Given the description of an element on the screen output the (x, y) to click on. 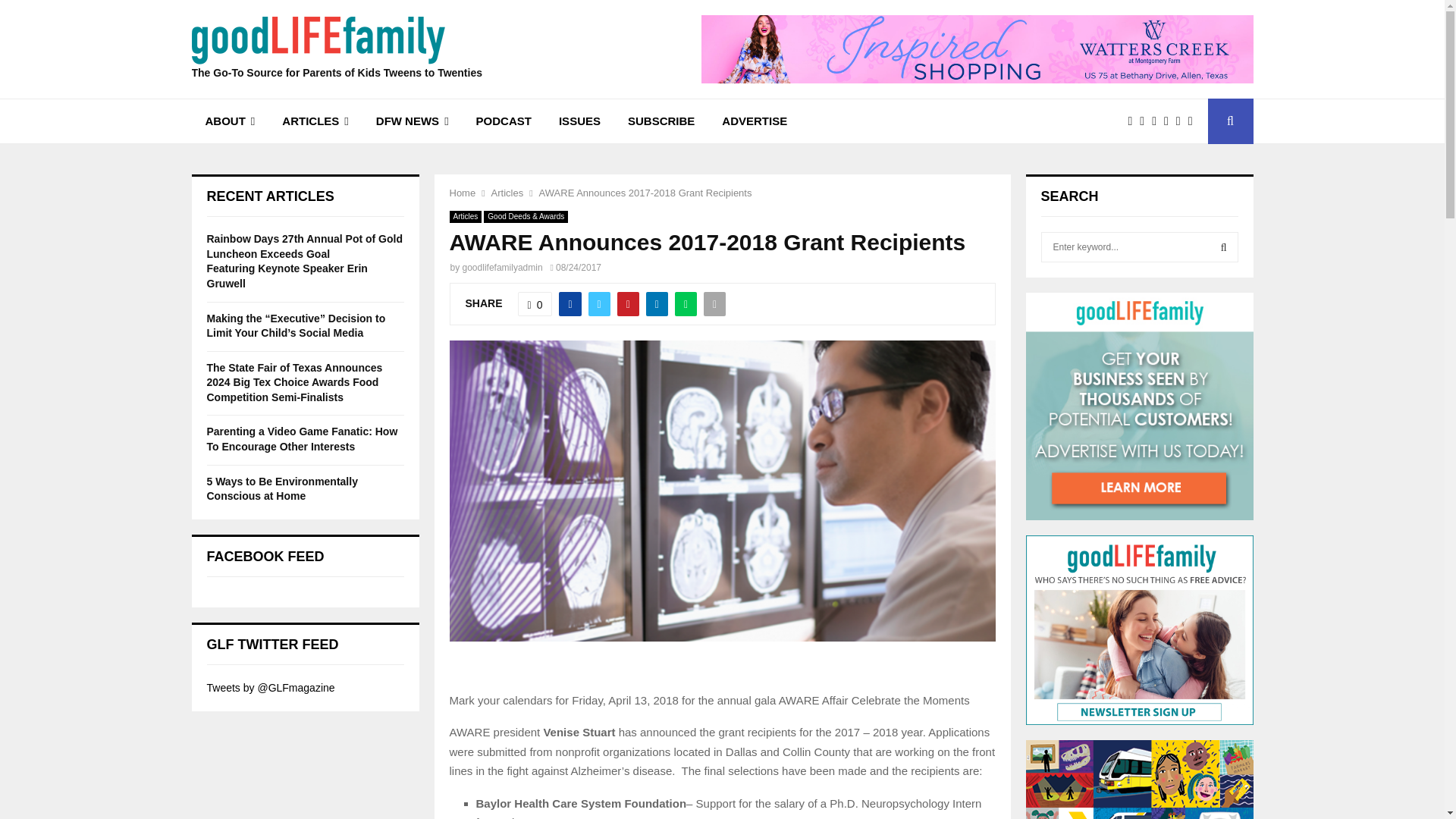
DFW NEWS (412, 121)
Facebook (1133, 121)
Instagram (1157, 121)
Pinterest (1169, 121)
Twitter (1145, 121)
Like (535, 303)
Linkedin (1182, 121)
Youtube (1193, 121)
ABOUT (228, 121)
ARTICLES (314, 121)
